Given the description of an element on the screen output the (x, y) to click on. 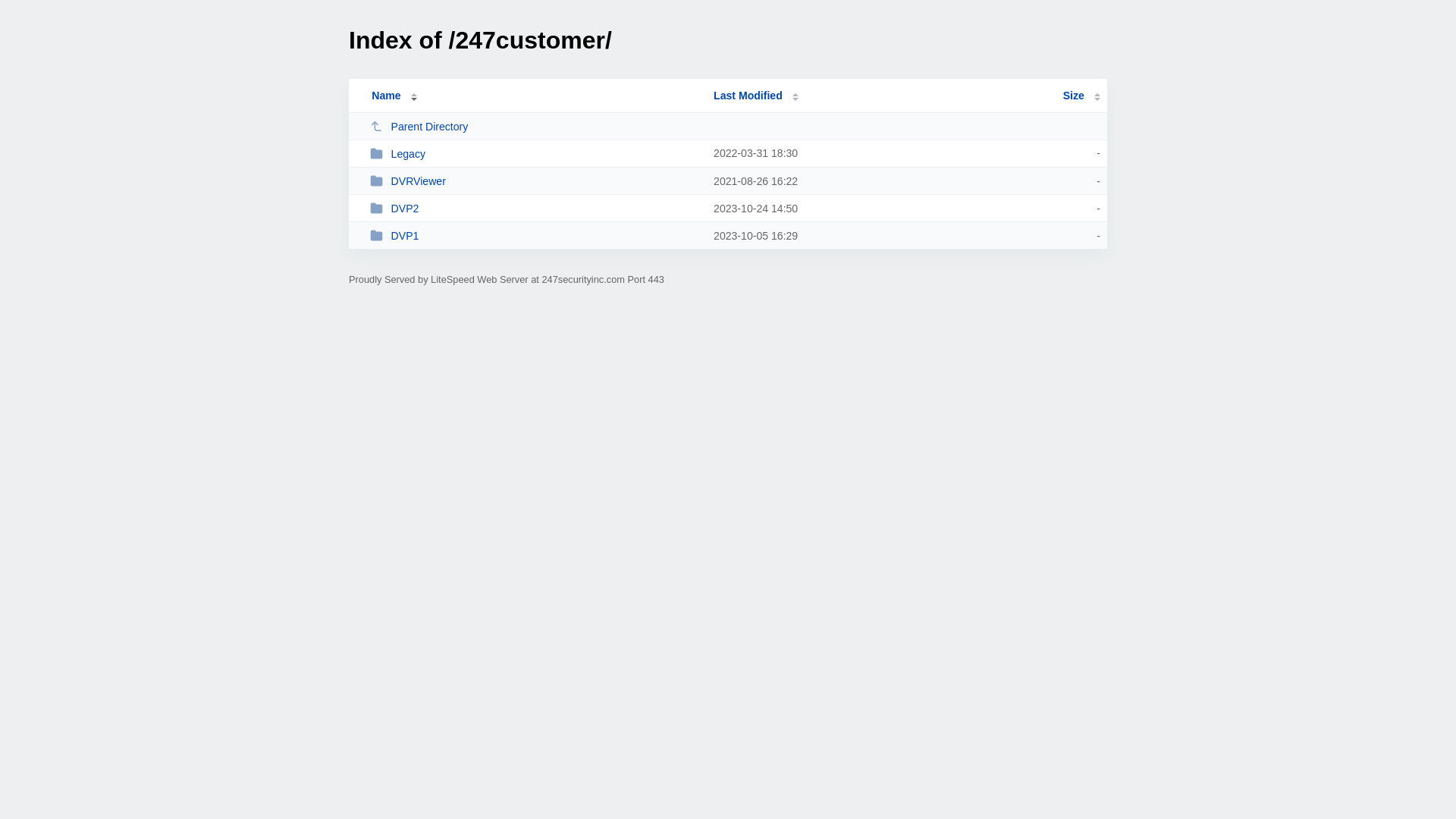
DVP1 Element type: text (534, 235)
Last Modified Element type: text (755, 95)
Size Element type: text (1081, 95)
Legacy Element type: text (534, 153)
DVP2 Element type: text (534, 207)
Parent Directory Element type: text (534, 125)
Name Element type: text (385, 95)
DVRViewer Element type: text (534, 180)
